Given the description of an element on the screen output the (x, y) to click on. 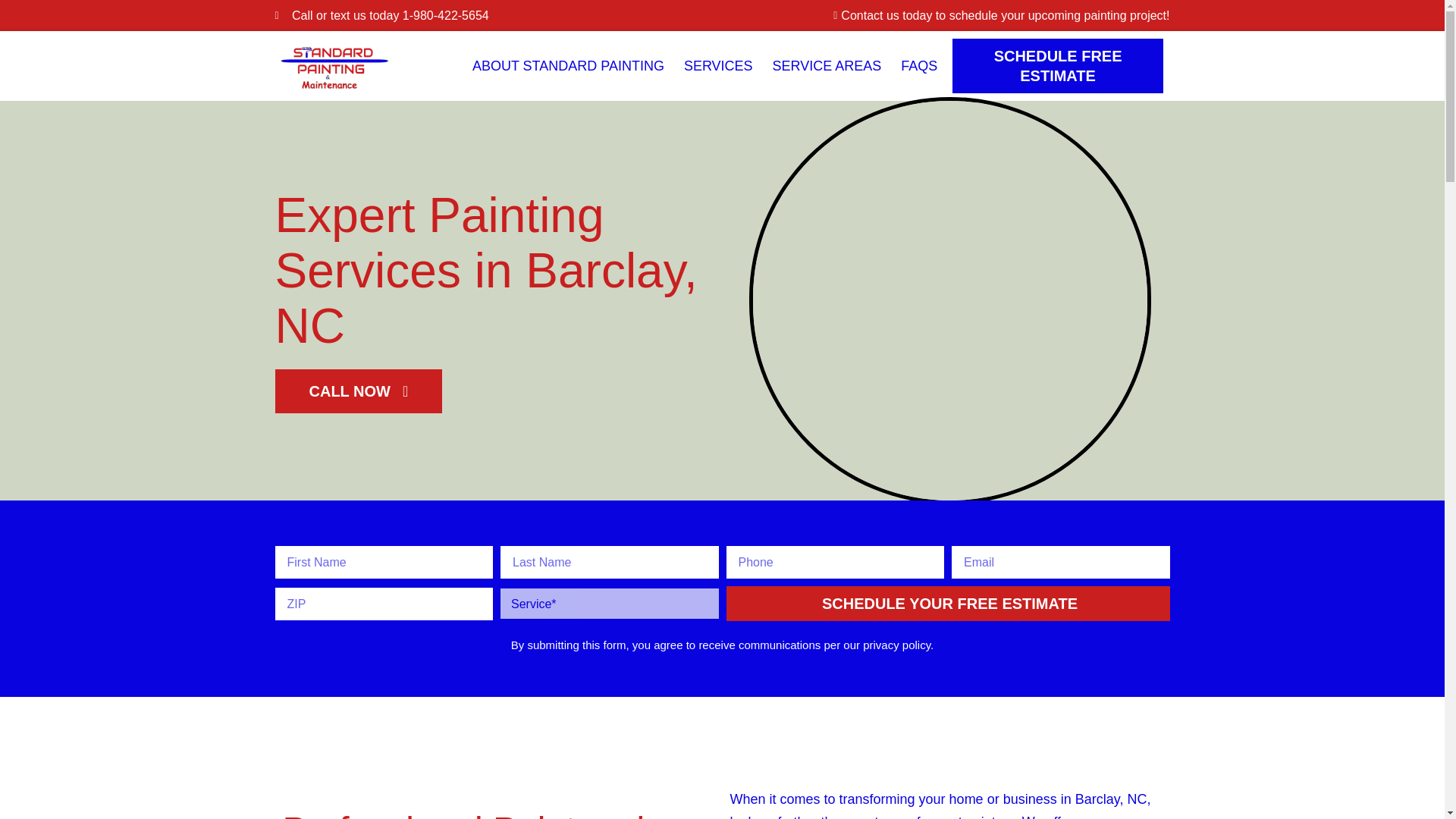
FAQS (919, 65)
Contact us today to schedule your upcoming painting project! (949, 15)
Call or text us today 1-980-422-5654 (494, 15)
ABOUT STANDARD PAINTING (567, 65)
SERVICES (718, 65)
SERVICE AREAS (827, 65)
